Given the description of an element on the screen output the (x, y) to click on. 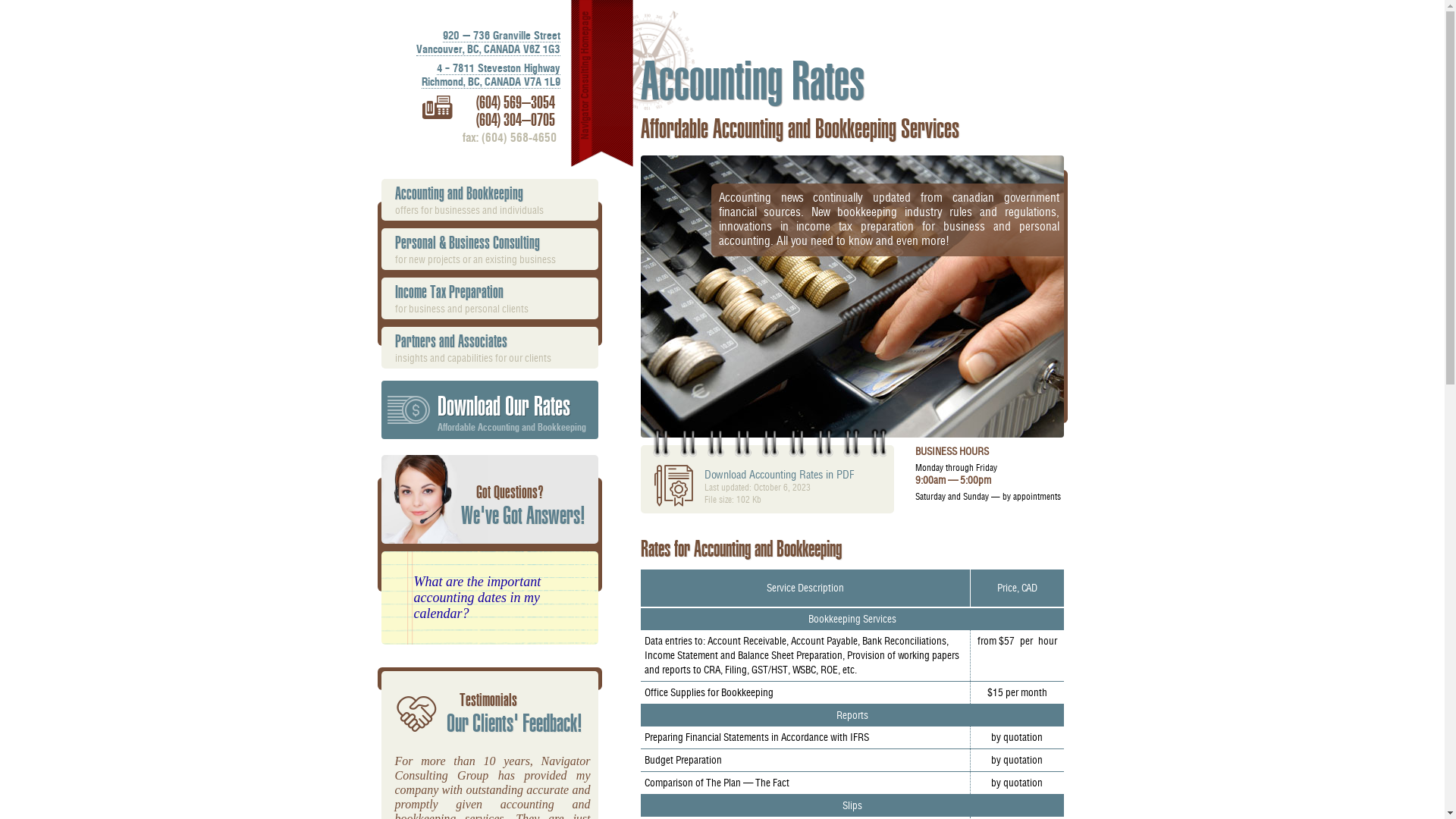
Download Our Rates
Affordable Accounting and Bookkeeping Element type: text (488, 409)
Income Tax Preparation
for business and personal clients Element type: text (491, 298)
What are the important accounting dates in my calendar? Element type: text (477, 597)
Got Questions?
We've Got Answers! Element type: text (527, 505)
Download Accounting Rates in PDF Element type: text (778, 474)
Navigator Consulting Homepage Element type: text (601, 83)
